Given the description of an element on the screen output the (x, y) to click on. 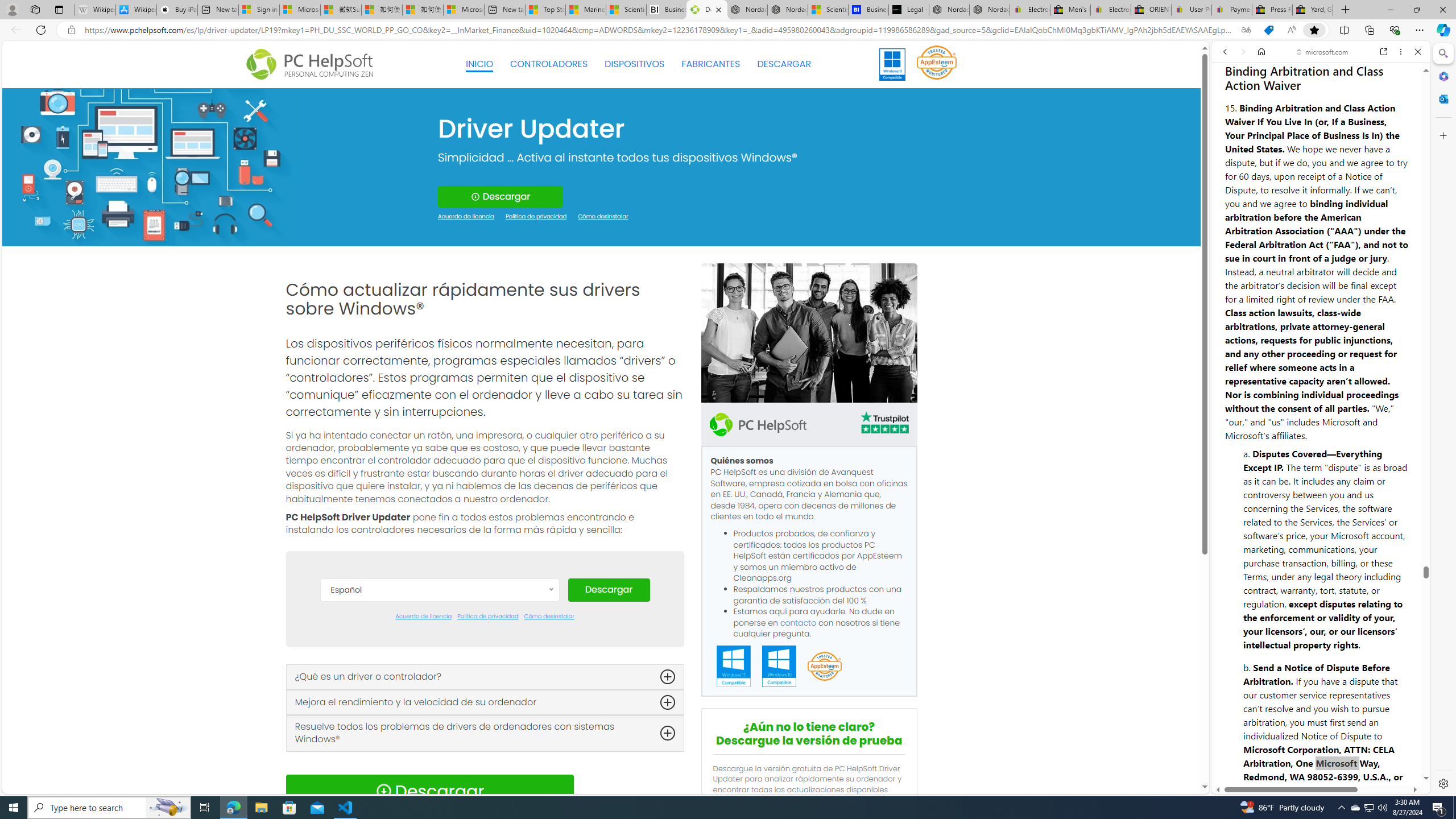
INICIO (479, 64)
Descarga Driver Updater (706, 9)
